Given the description of an element on the screen output the (x, y) to click on. 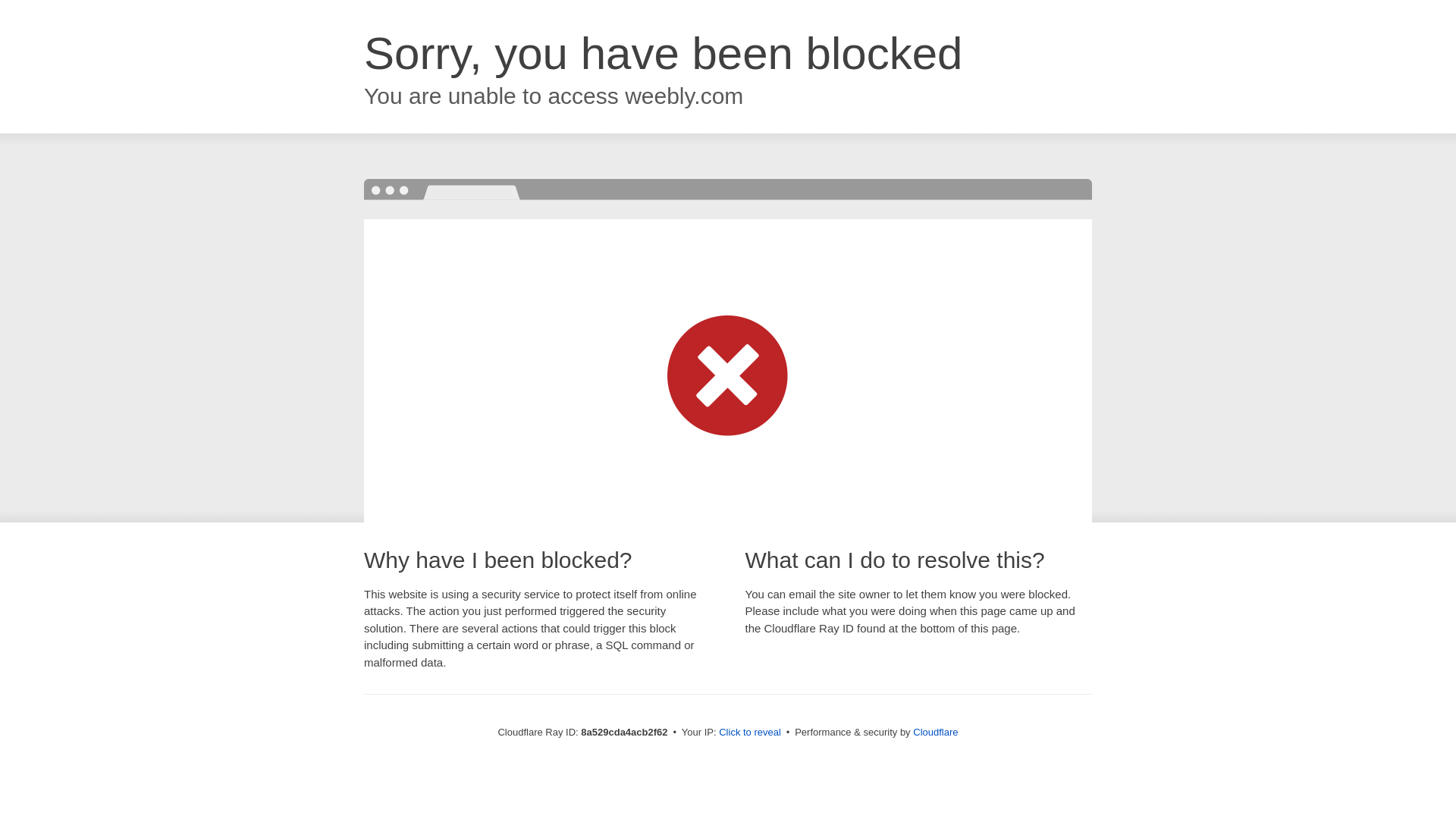
Cloudflare (935, 731)
Click to reveal (749, 732)
